Given the description of an element on the screen output the (x, y) to click on. 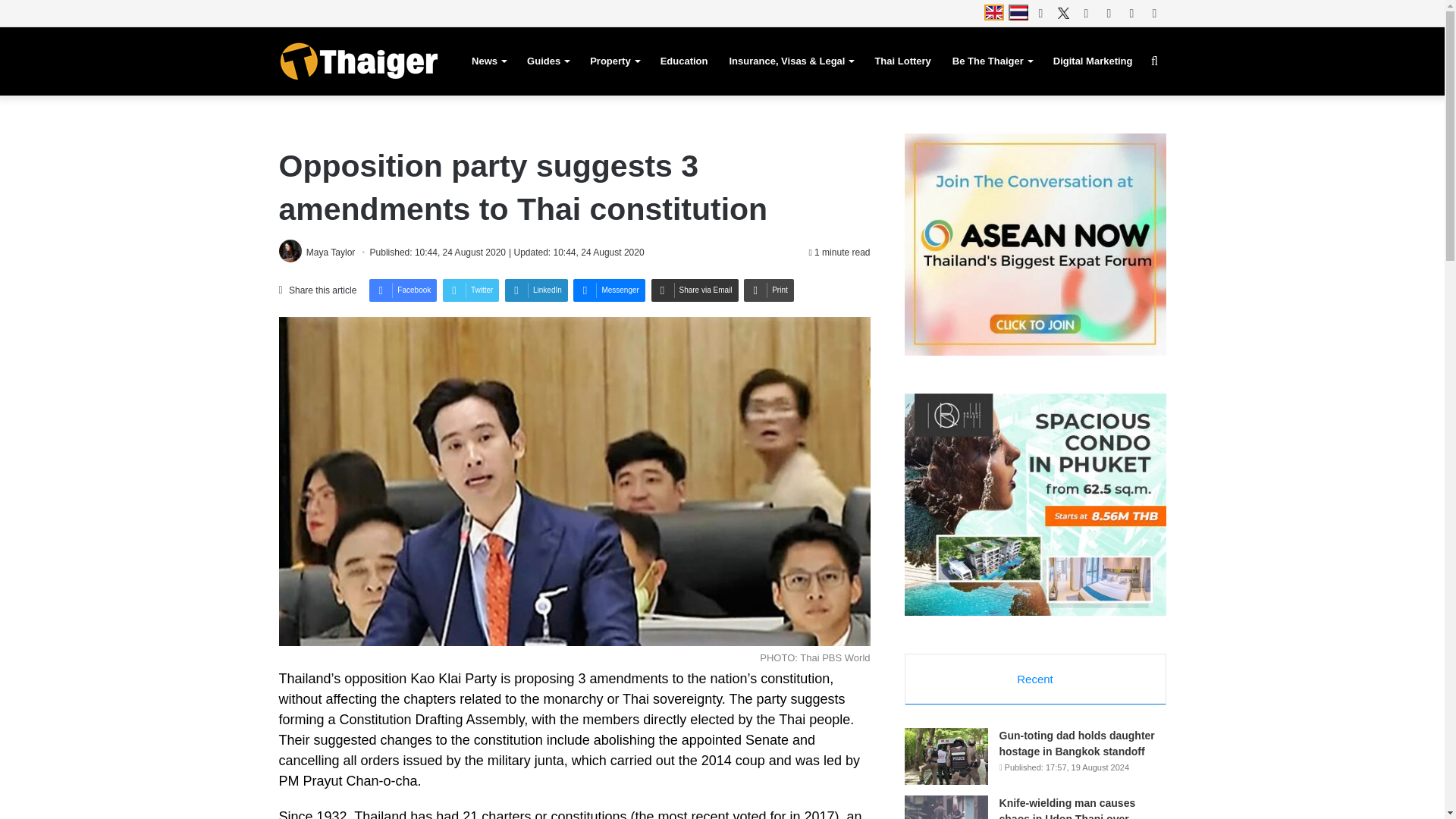
Print (768, 290)
Share via Email (694, 290)
Facebook (402, 290)
LinkedIn (536, 290)
Twitter (470, 290)
Messenger (609, 290)
Thaiger (358, 60)
